Given the description of an element on the screen output the (x, y) to click on. 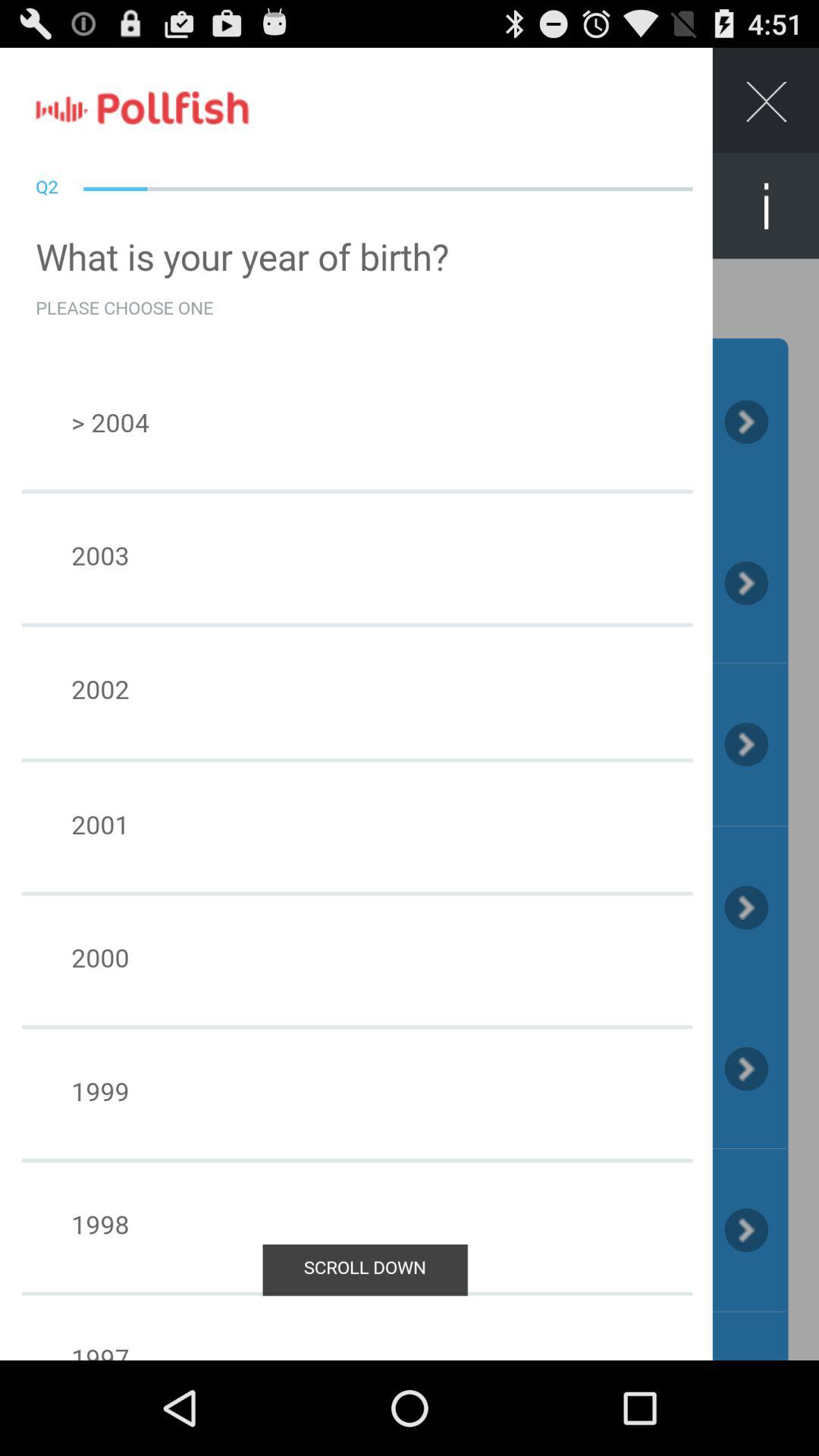
turn on the icon at the top (409, 97)
